Given the description of an element on the screen output the (x, y) to click on. 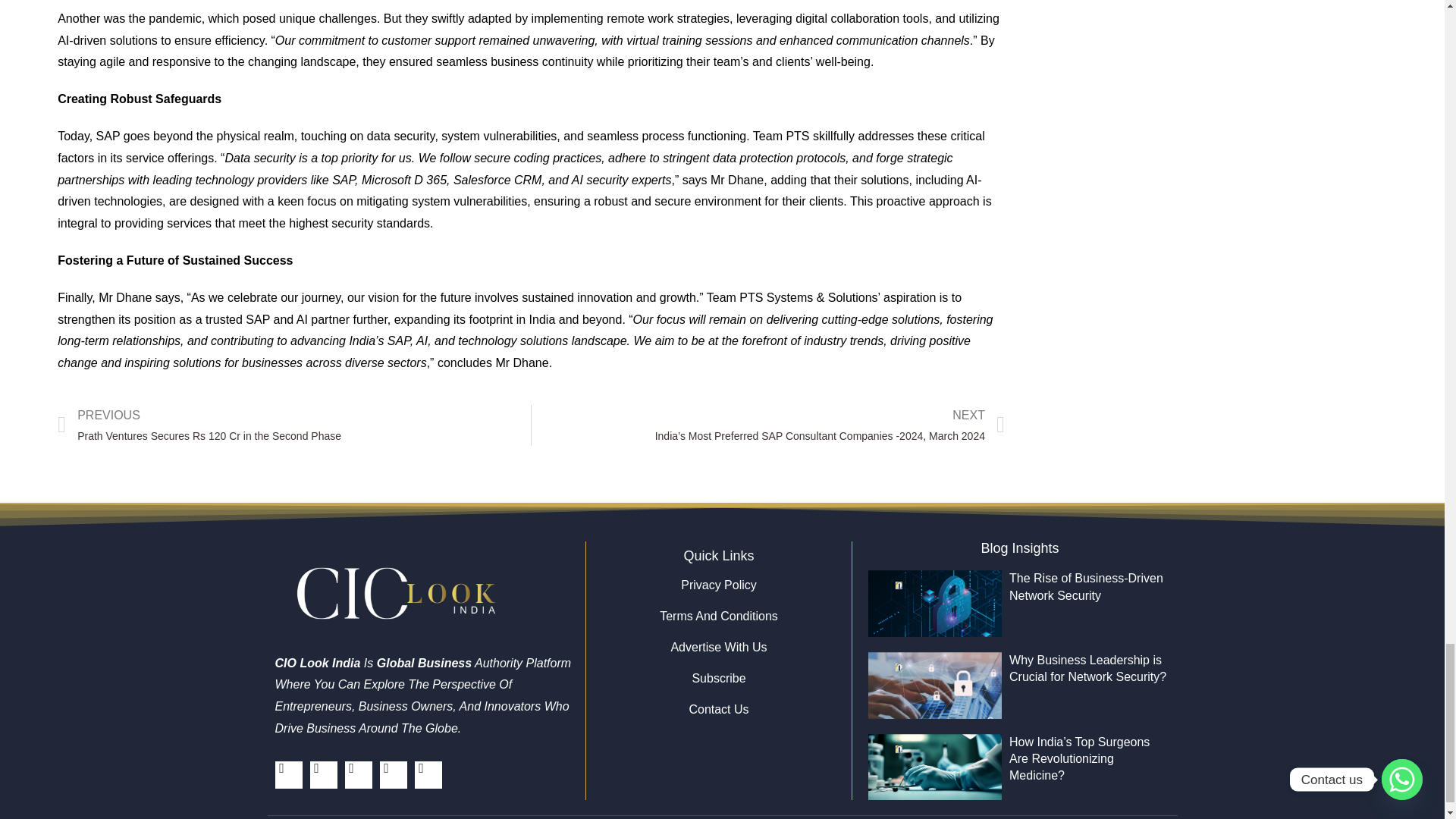
Subscribe (718, 678)
Terms And Conditions (718, 616)
Advertise With Us (718, 647)
Privacy Policy (718, 585)
Contact Us (718, 709)
